Given the description of an element on the screen output the (x, y) to click on. 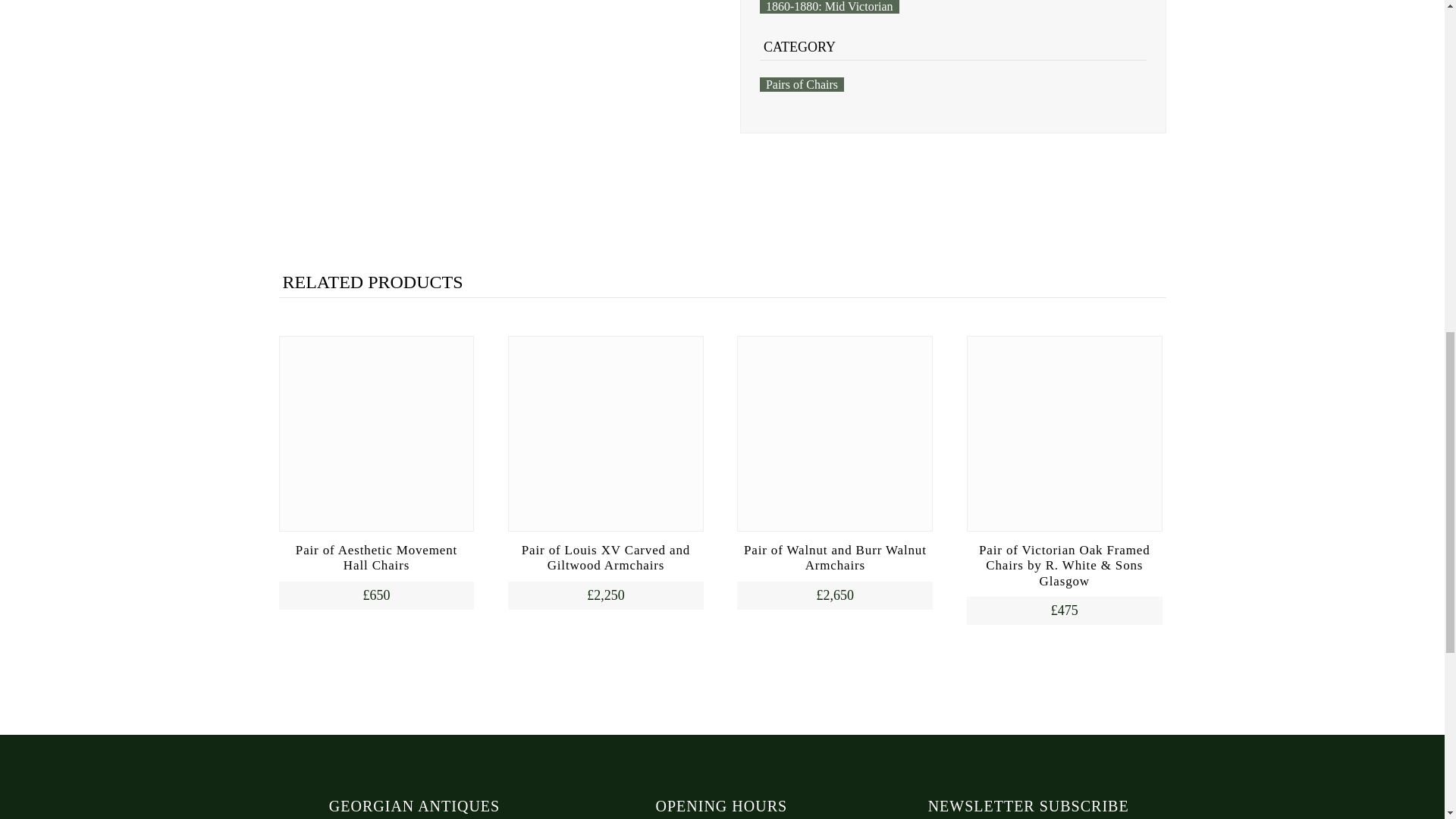
P1284246.jpg (320, 60)
P1284258.jpg (448, 165)
P1284259.jpg (534, 165)
P1284250.jpg (490, 60)
P1284253.jpg (576, 60)
P1284248.jpg (406, 60)
P1284254.jpg (661, 60)
P1284257.jpg (362, 165)
